Given the description of an element on the screen output the (x, y) to click on. 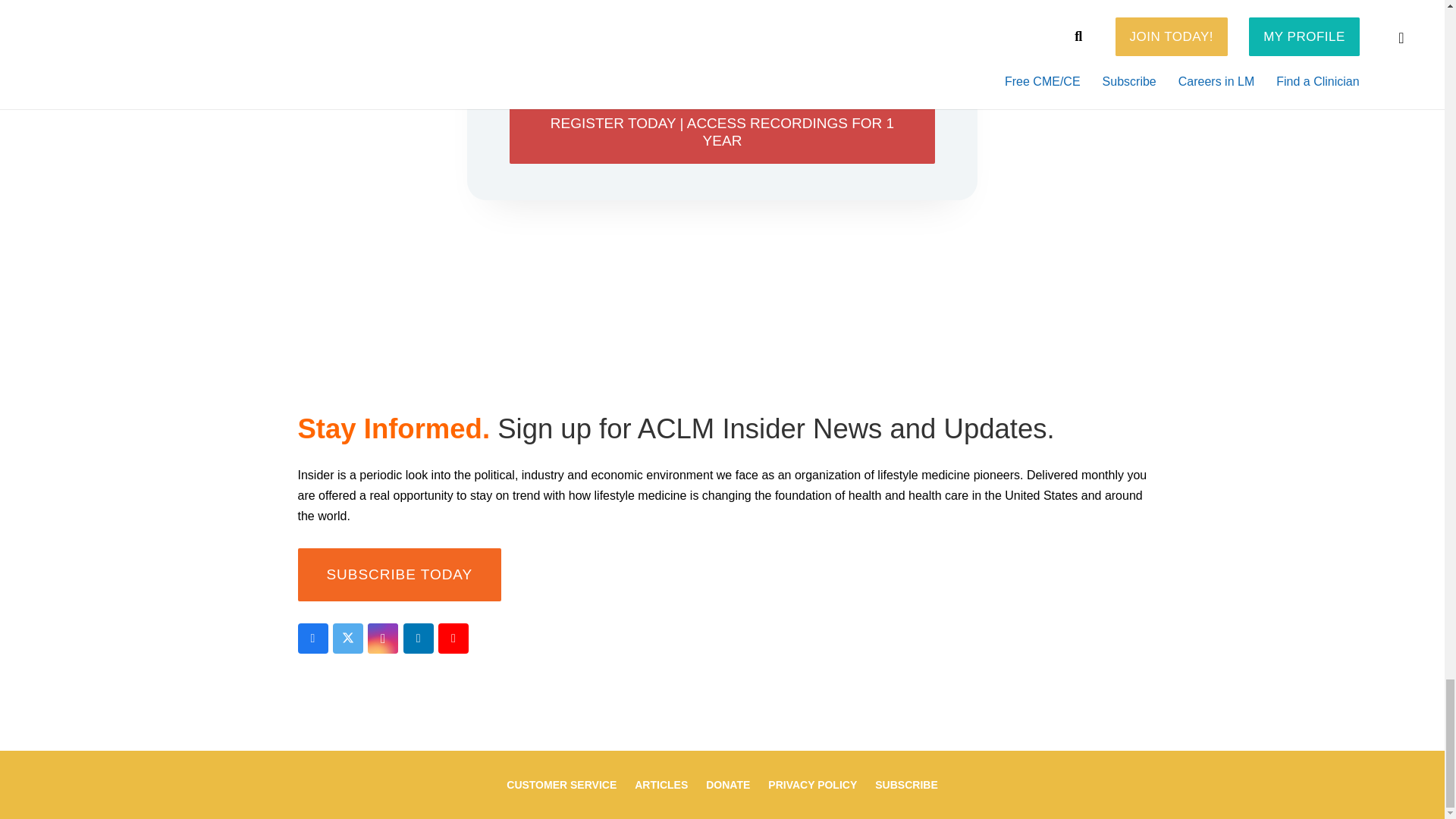
YouTube (453, 638)
Twitter (347, 638)
Instagram (382, 638)
Facebook (312, 638)
LinkedIn (418, 638)
